Given the description of an element on the screen output the (x, y) to click on. 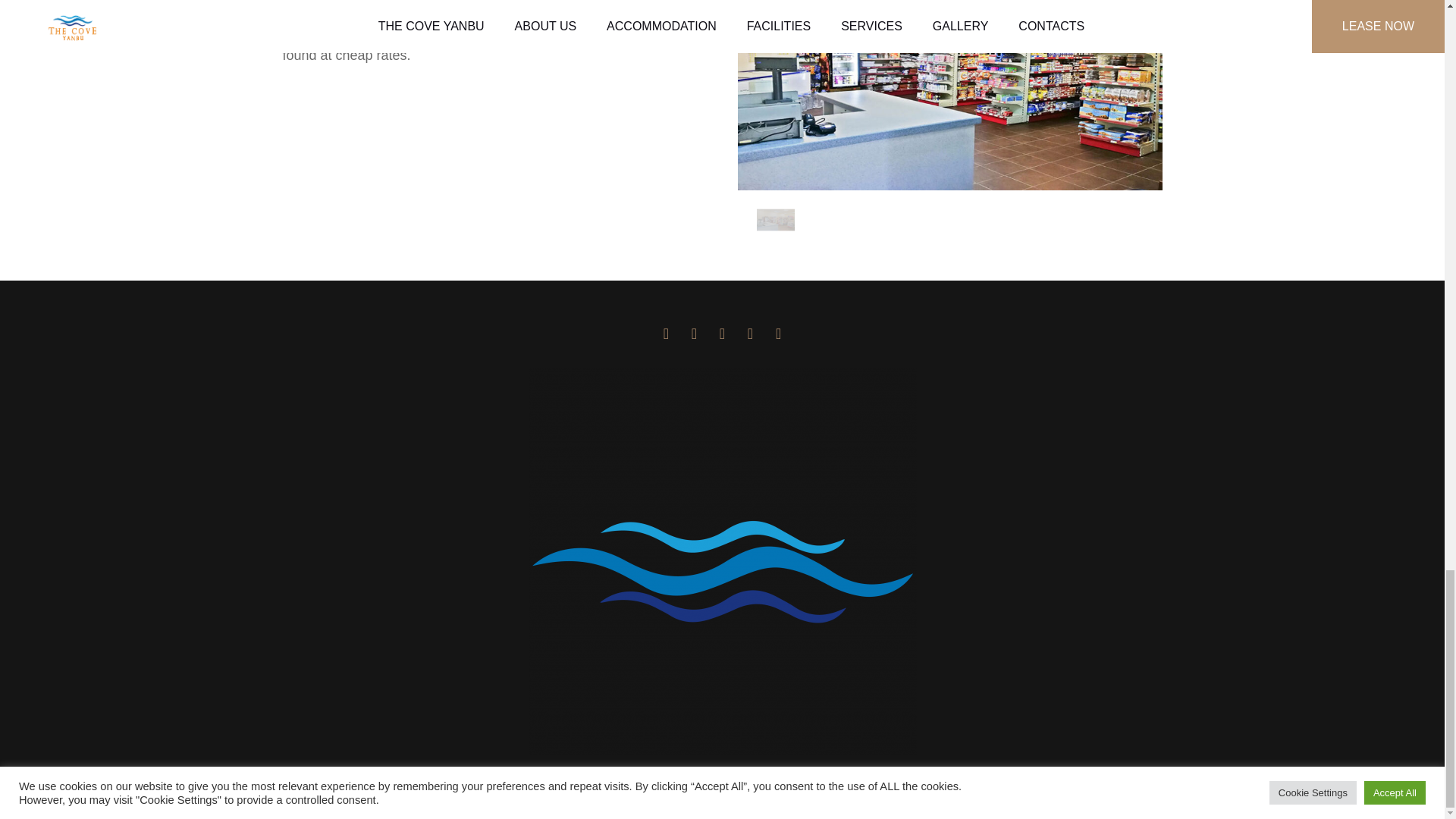
Food and Beverages 4 (949, 95)
Linkedin (665, 333)
Twitter (750, 333)
Facebook (693, 333)
Youtube (778, 333)
Instagram (722, 333)
